Given the description of an element on the screen output the (x, y) to click on. 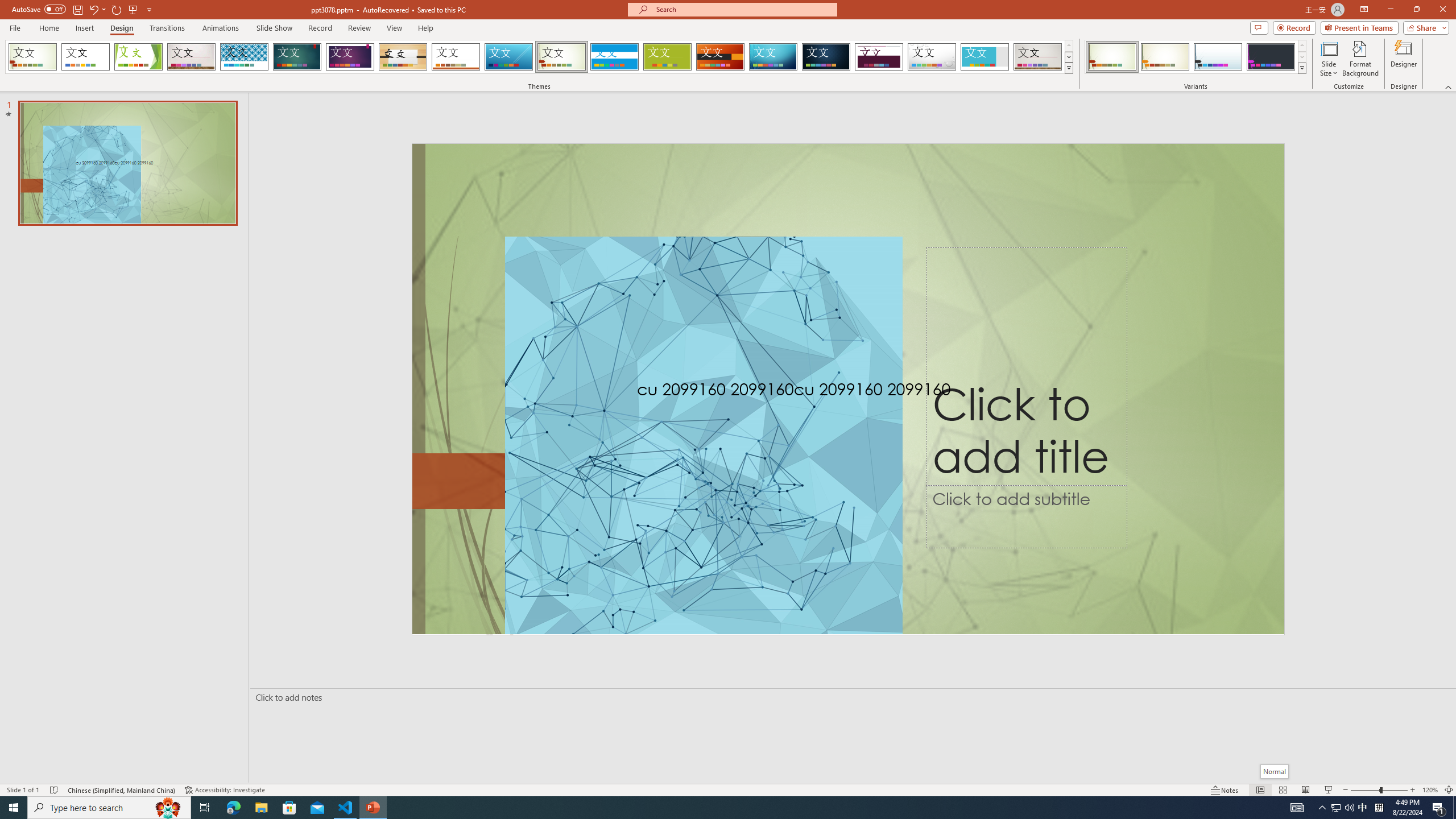
Wisp Variant 1 (1112, 56)
Integral Loading Preview... (244, 56)
Circuit Loading Preview... (772, 56)
Slide Size (1328, 58)
Gallery (191, 56)
Office Theme (85, 56)
